Given the description of an element on the screen output the (x, y) to click on. 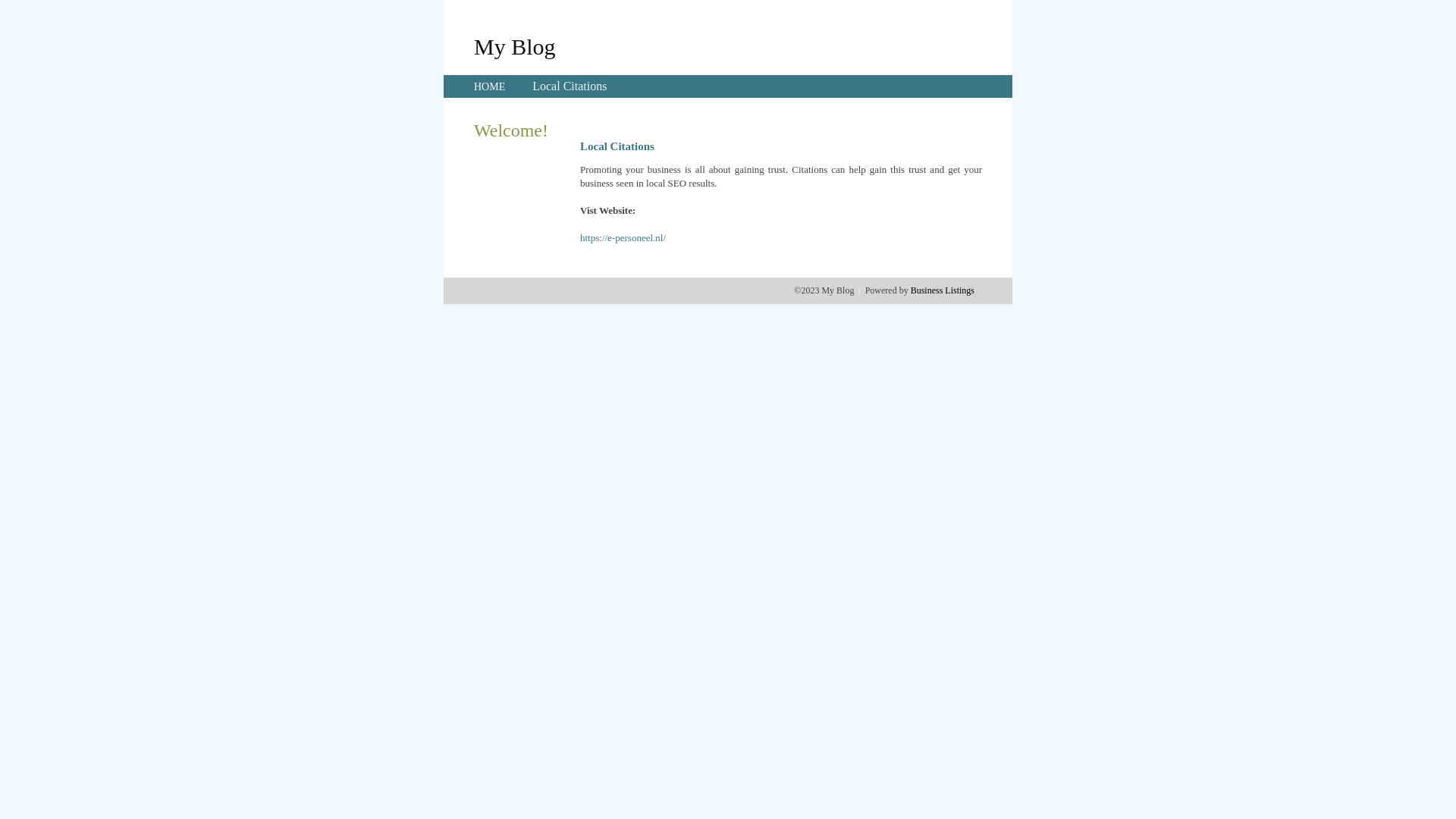
My Blog Element type: text (514, 46)
https://e-personeel.nl/ Element type: text (622, 237)
Local Citations Element type: text (569, 85)
HOME Element type: text (489, 86)
Business Listings Element type: text (942, 290)
